Given the description of an element on the screen output the (x, y) to click on. 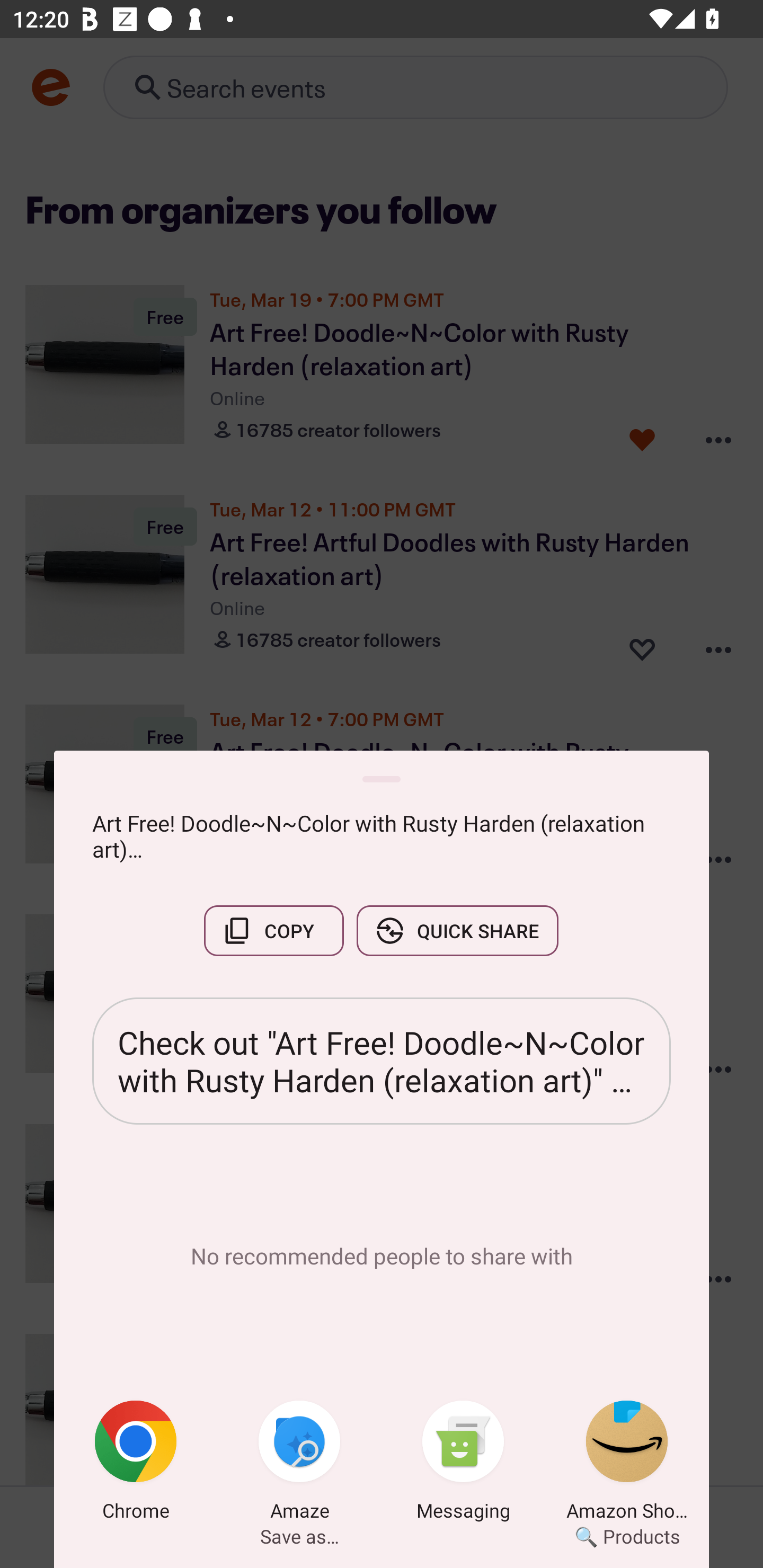
COPY (273, 930)
QUICK SHARE (457, 930)
Chrome (135, 1463)
Amaze Save as… (299, 1463)
Messaging (463, 1463)
Amazon Shopping 🔍 Products (626, 1463)
